Given the description of an element on the screen output the (x, y) to click on. 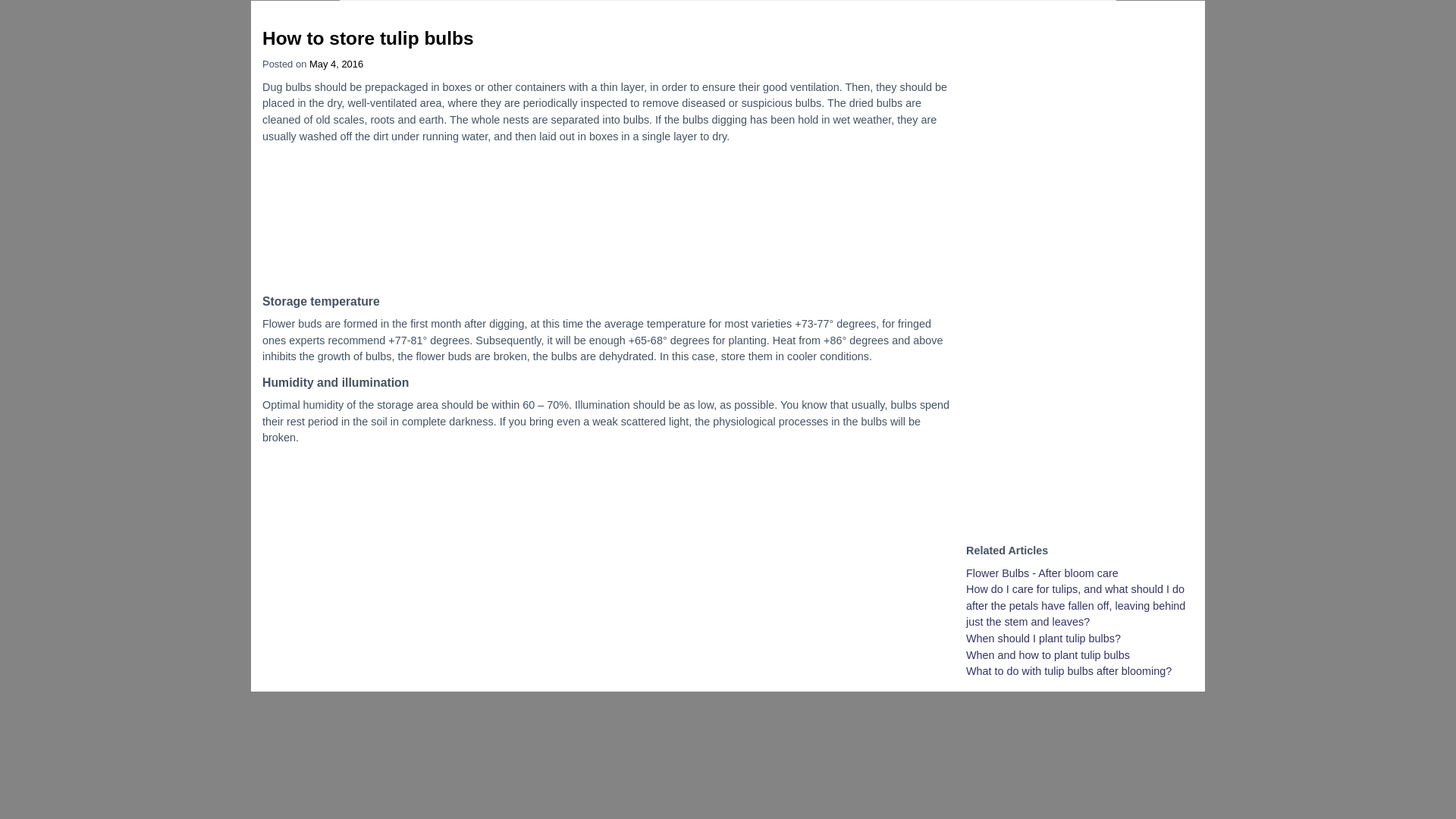
How to store tulip bulbs (368, 37)
Permalink to How to store tulip bulbs (368, 37)
Flower Bulbs - After bloom care (1042, 573)
Advertisement (606, 562)
May 4, 2016 (335, 63)
When and how to plant tulip bulbs (1047, 654)
5:28 pm (335, 63)
